Given the description of an element on the screen output the (x, y) to click on. 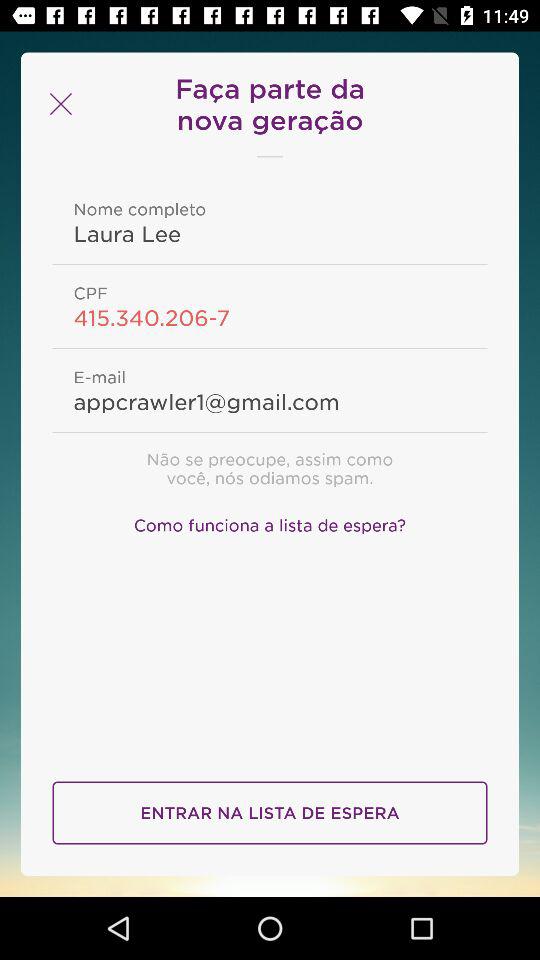
turn on icon at the top left corner (58, 103)
